Given the description of an element on the screen output the (x, y) to click on. 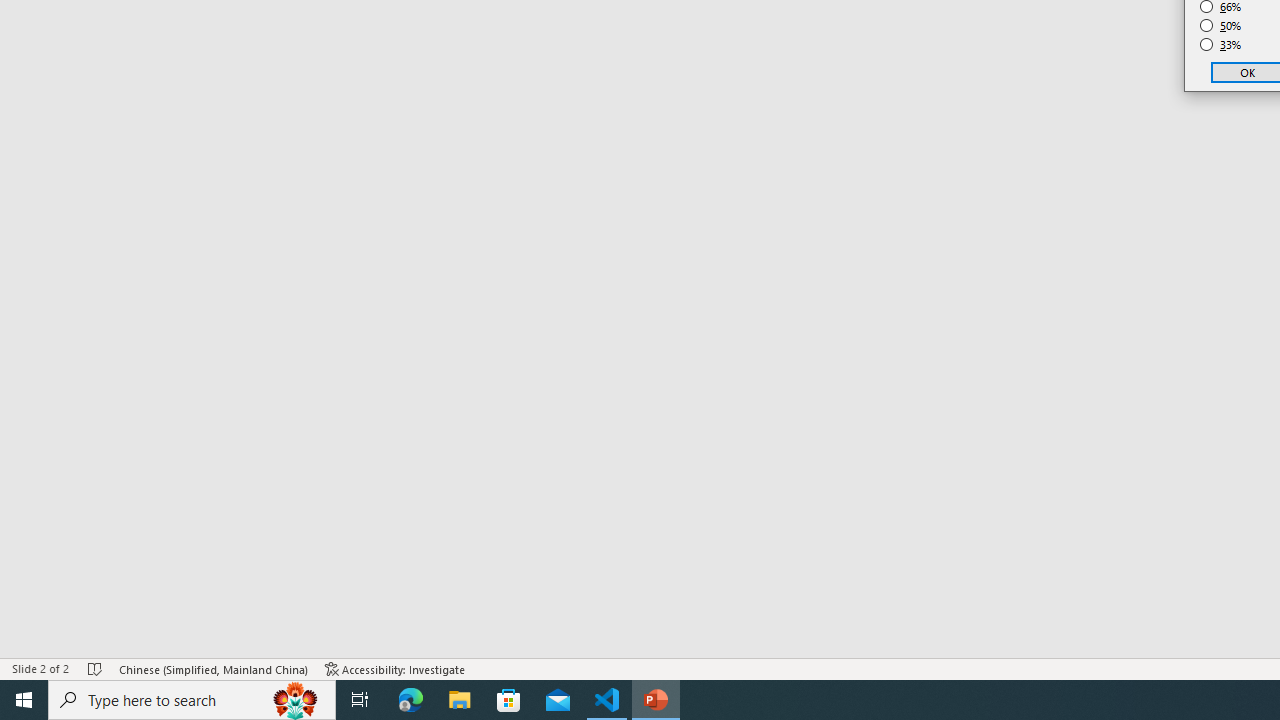
50% (1221, 25)
33% (1221, 44)
Microsoft Edge (411, 699)
